Given the description of an element on the screen output the (x, y) to click on. 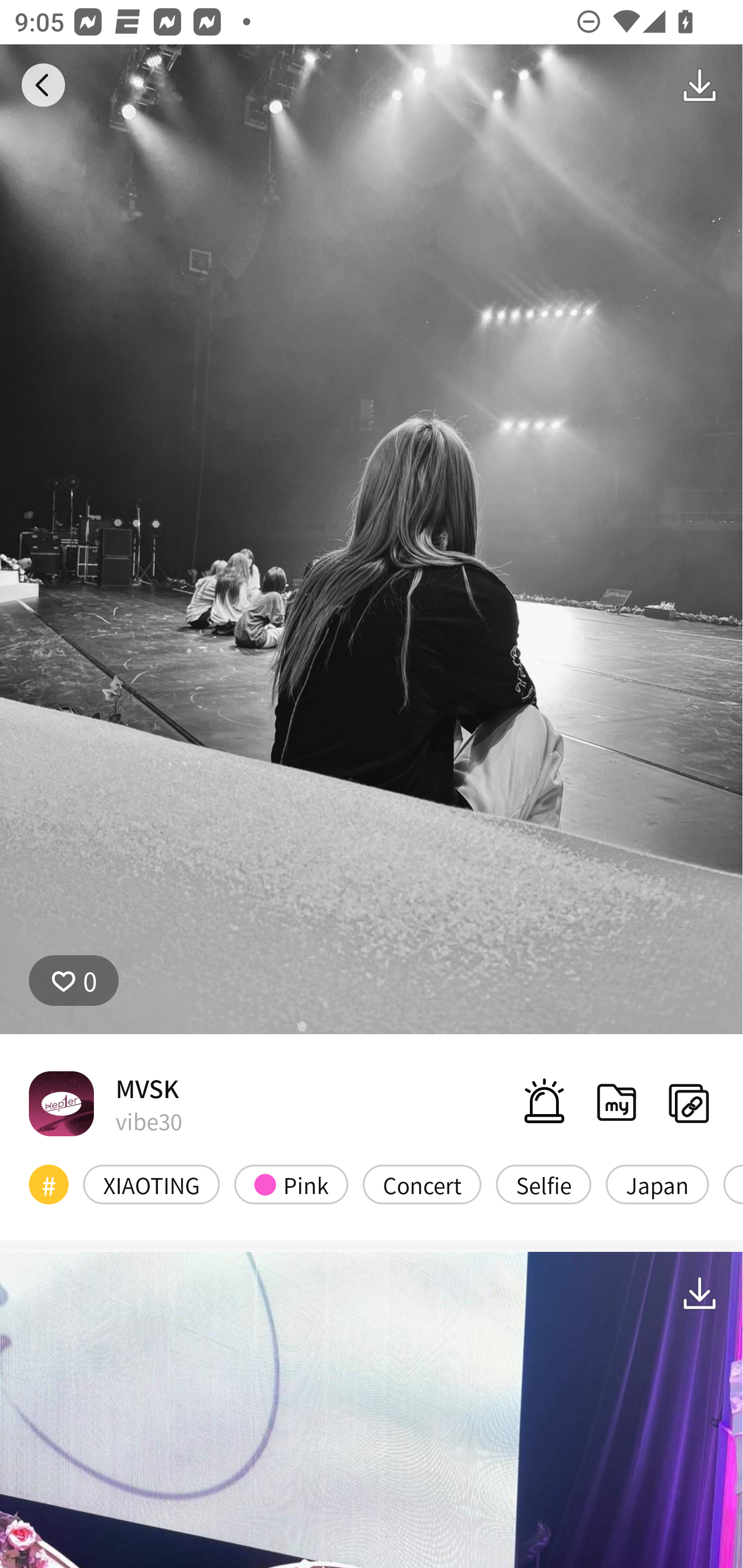
0 (73, 980)
MVSK vibe30 (105, 1102)
XIAOTING (151, 1184)
Pink (291, 1184)
Concert (421, 1184)
Selfie (543, 1184)
Japan (656, 1184)
